Given the description of an element on the screen output the (x, y) to click on. 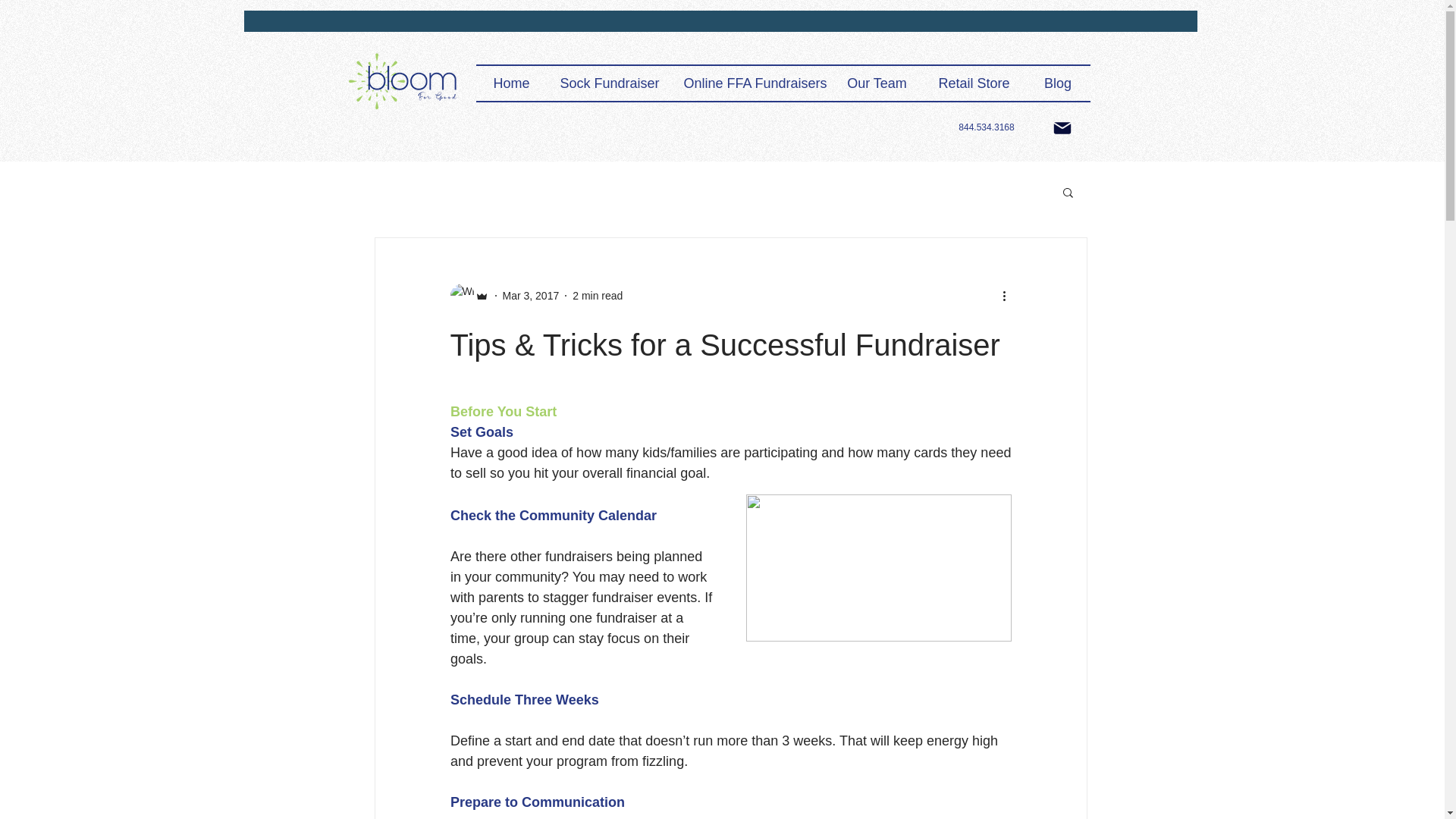
Bloom - Helping Communities Grow (403, 81)
Sock Fundraiser (609, 83)
Home (511, 83)
Online FFA Fundraisers (751, 83)
Our Team (876, 83)
2 min read (597, 295)
Blog (1057, 83)
Retail Store (973, 83)
Mar 3, 2017 (530, 295)
